Given the description of an element on the screen output the (x, y) to click on. 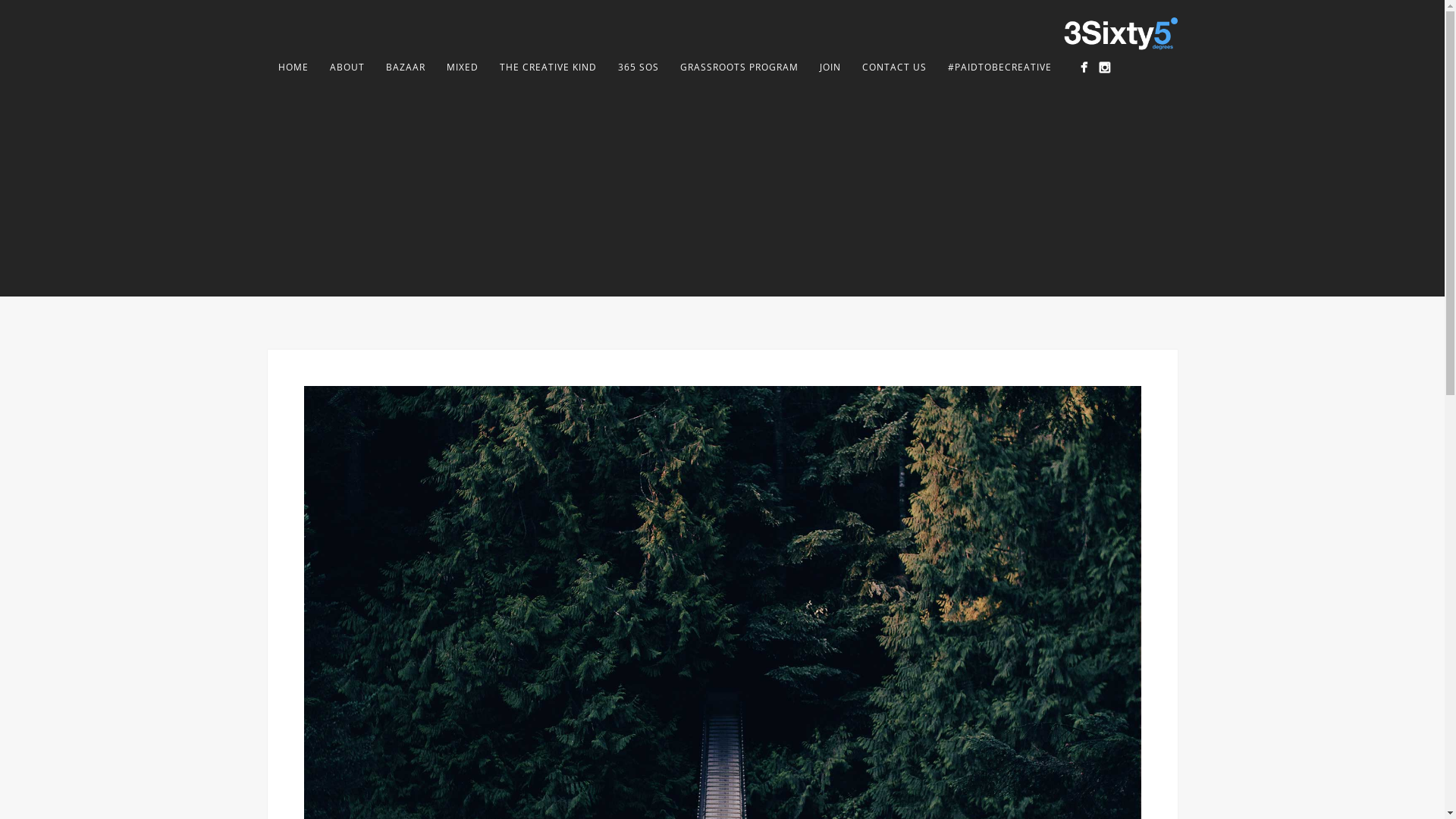
GRASSROOTS PROGRAM Element type: text (738, 66)
CONTACT US Element type: text (893, 66)
365 SOS Element type: text (637, 66)
Instagram Element type: hover (1104, 66)
JOIN Element type: text (829, 66)
MIXED Element type: text (461, 66)
#PAIDTOBECREATIVE Element type: text (999, 66)
THE CREATIVE KIND Element type: text (547, 66)
BAZAAR Element type: text (404, 66)
ABOUT Element type: text (346, 66)
HOME Element type: text (292, 66)
Facebook Page Element type: hover (1082, 66)
